Given the description of an element on the screen output the (x, y) to click on. 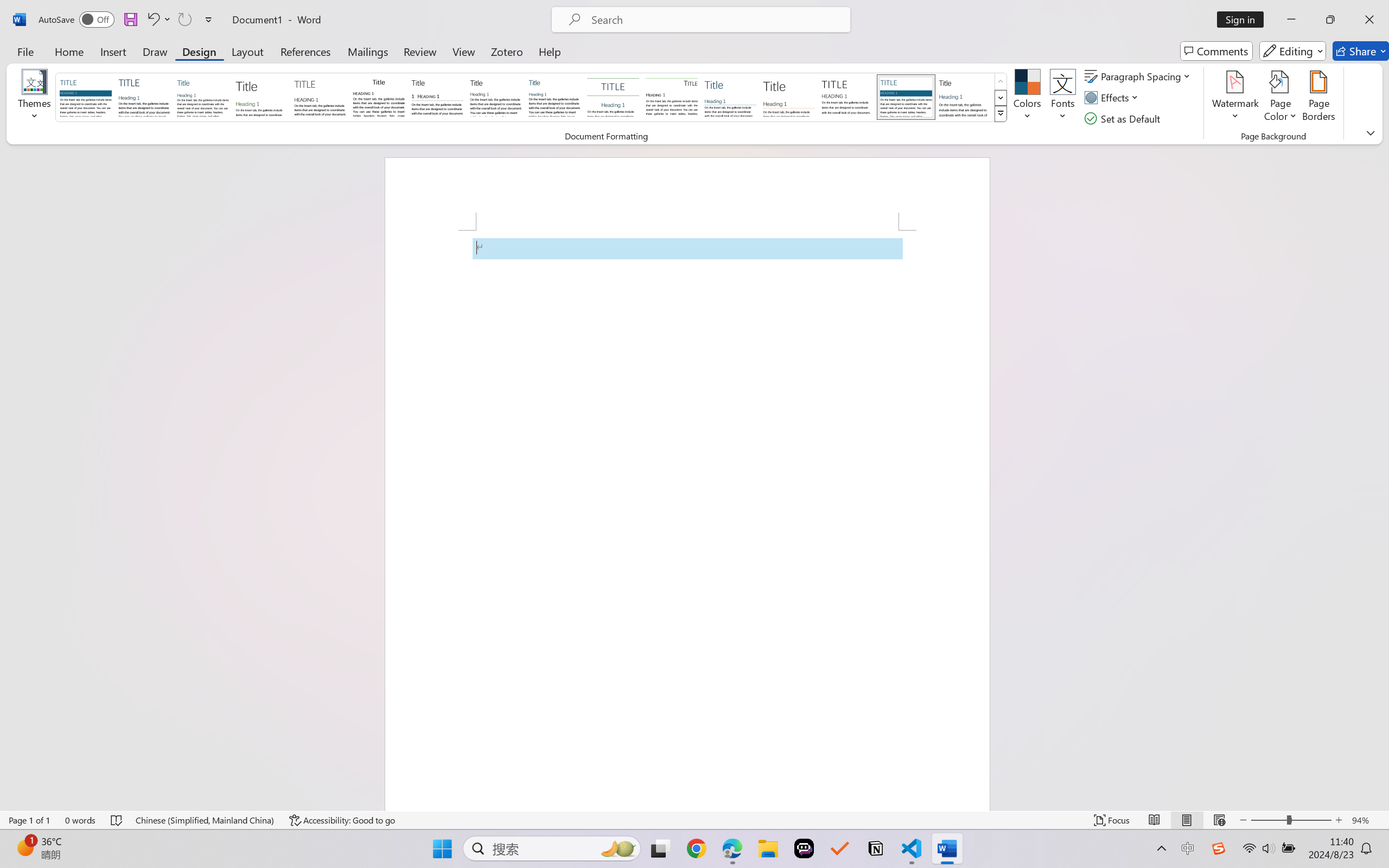
Minimalist (847, 96)
AutomationID: QuickStylesSets (531, 97)
Language Chinese (Simplified, Mainland China) (205, 819)
